Given the description of an element on the screen output the (x, y) to click on. 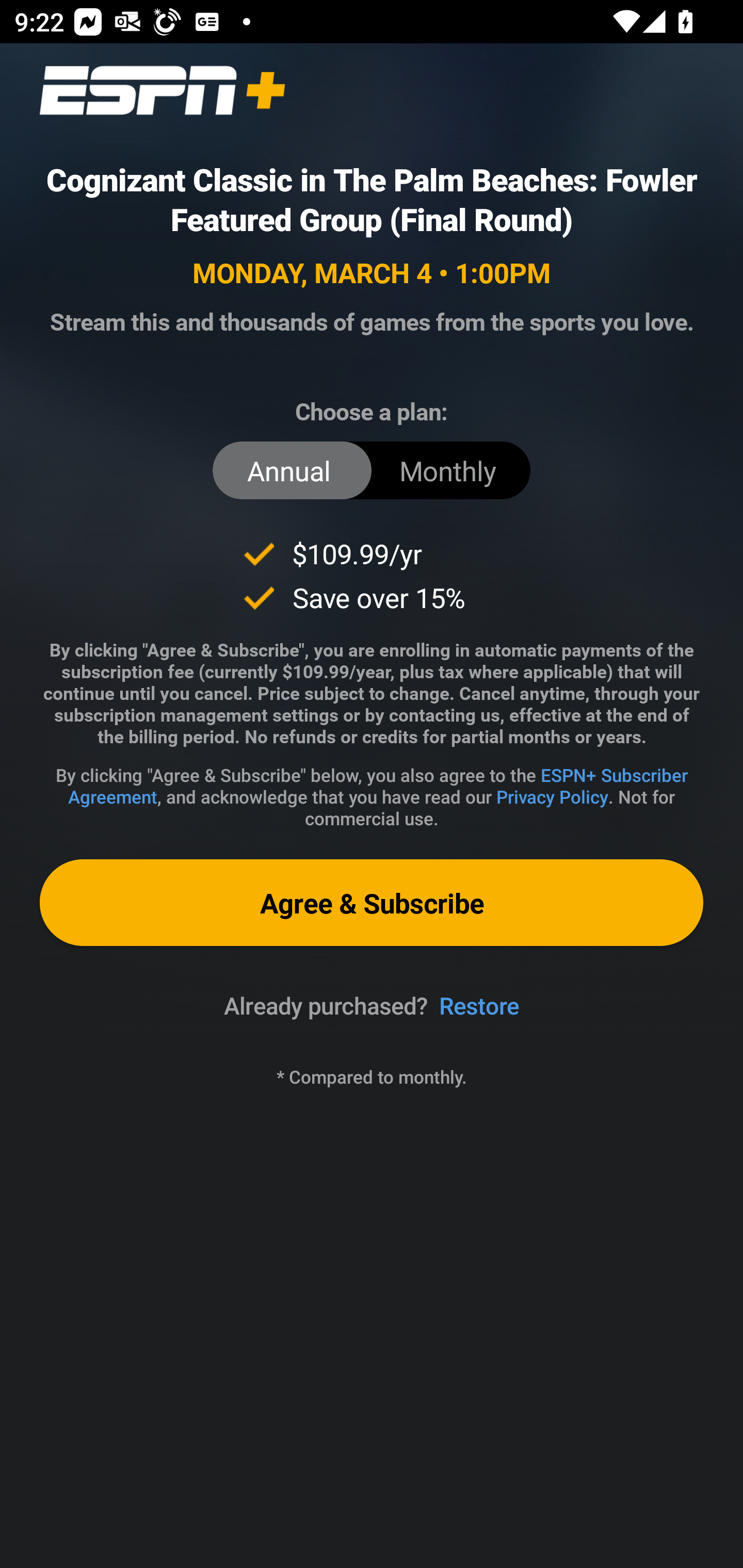
Agree & Subscribe (371, 902)
